Given the description of an element on the screen output the (x, y) to click on. 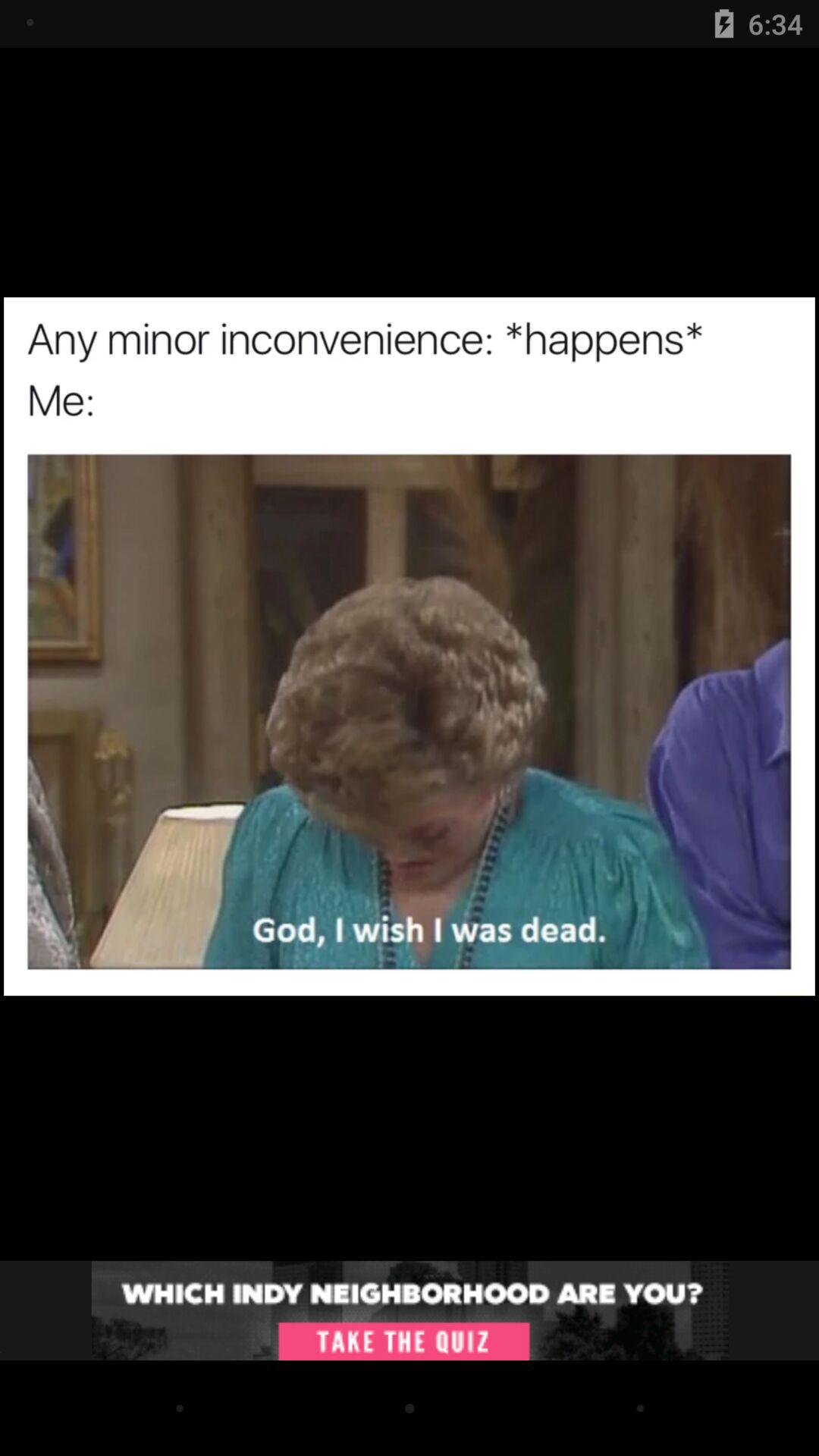
open page (409, 1310)
